Given the description of an element on the screen output the (x, y) to click on. 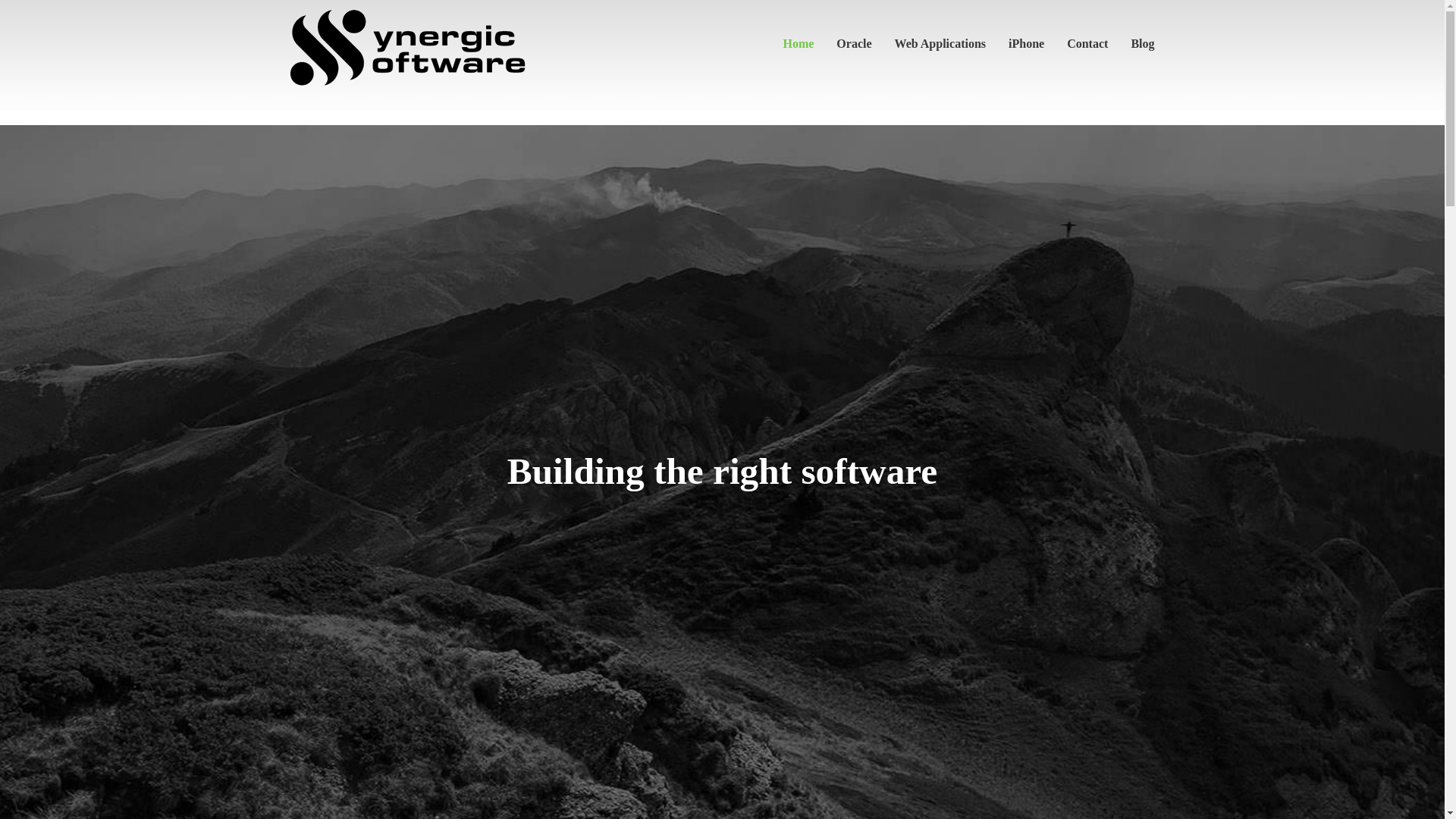
Blog (1136, 44)
Oracle (853, 44)
Web Applications (940, 44)
Contact (1087, 44)
Home (798, 44)
iPhone (1026, 44)
